Given the description of an element on the screen output the (x, y) to click on. 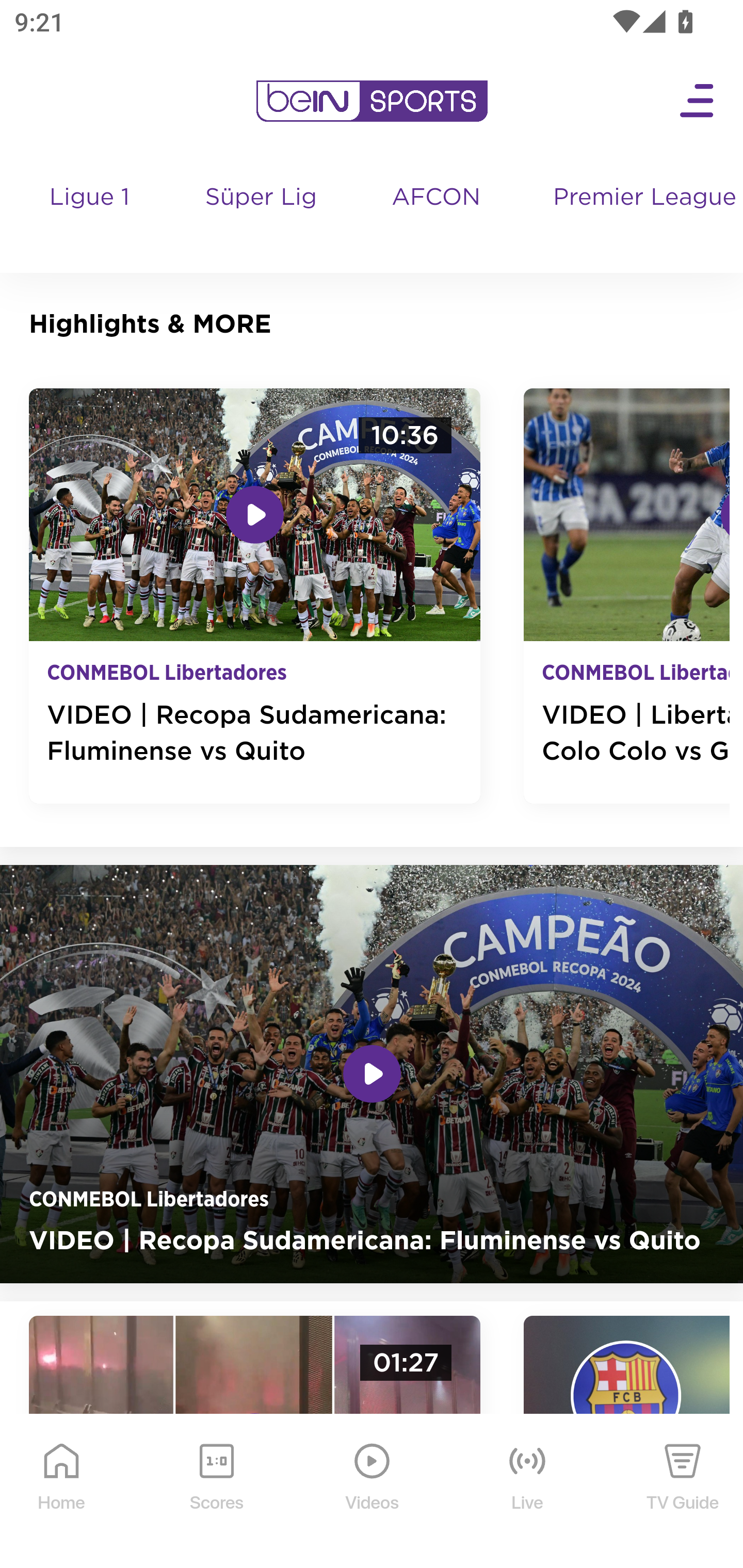
en-us?platform=mobile_android bein logo (371, 101)
Open Menu Icon (697, 101)
Ligue 1 (90, 216)
Süper Lig (261, 216)
AFCON (435, 198)
Premier League (640, 198)
Home Home Icon Home (61, 1491)
Scores Scores Icon Scores (216, 1491)
Videos Videos Icon Videos (372, 1491)
TV Guide TV Guide Icon TV Guide (682, 1491)
